Given the description of an element on the screen output the (x, y) to click on. 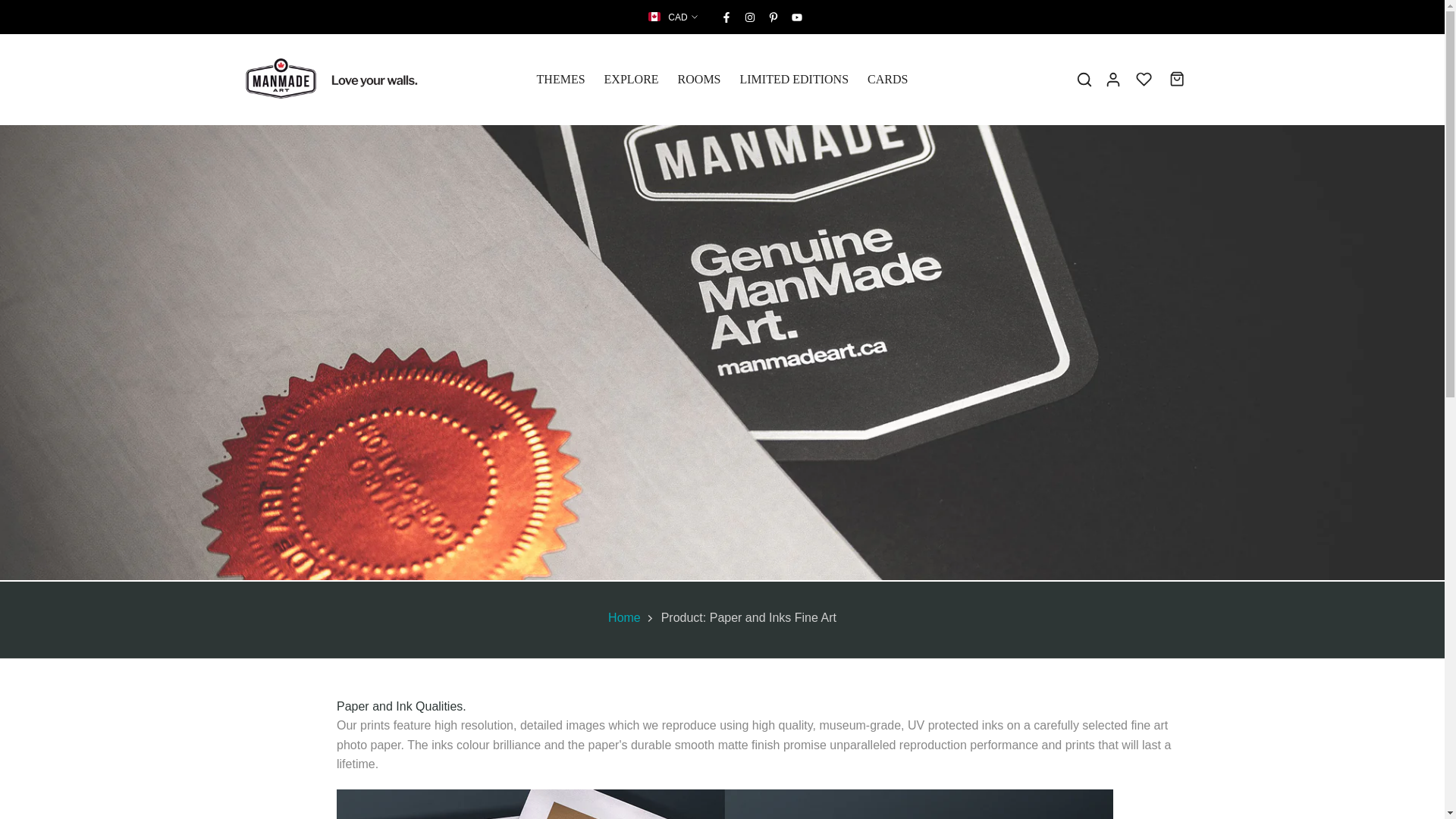
EXPLORE (631, 79)
Home (624, 618)
LIMITED EDITIONS (794, 79)
CAD (672, 16)
Skip to content (10, 7)
THEMES (566, 79)
CARDS (883, 79)
ROOMS (699, 79)
